Given the description of an element on the screen output the (x, y) to click on. 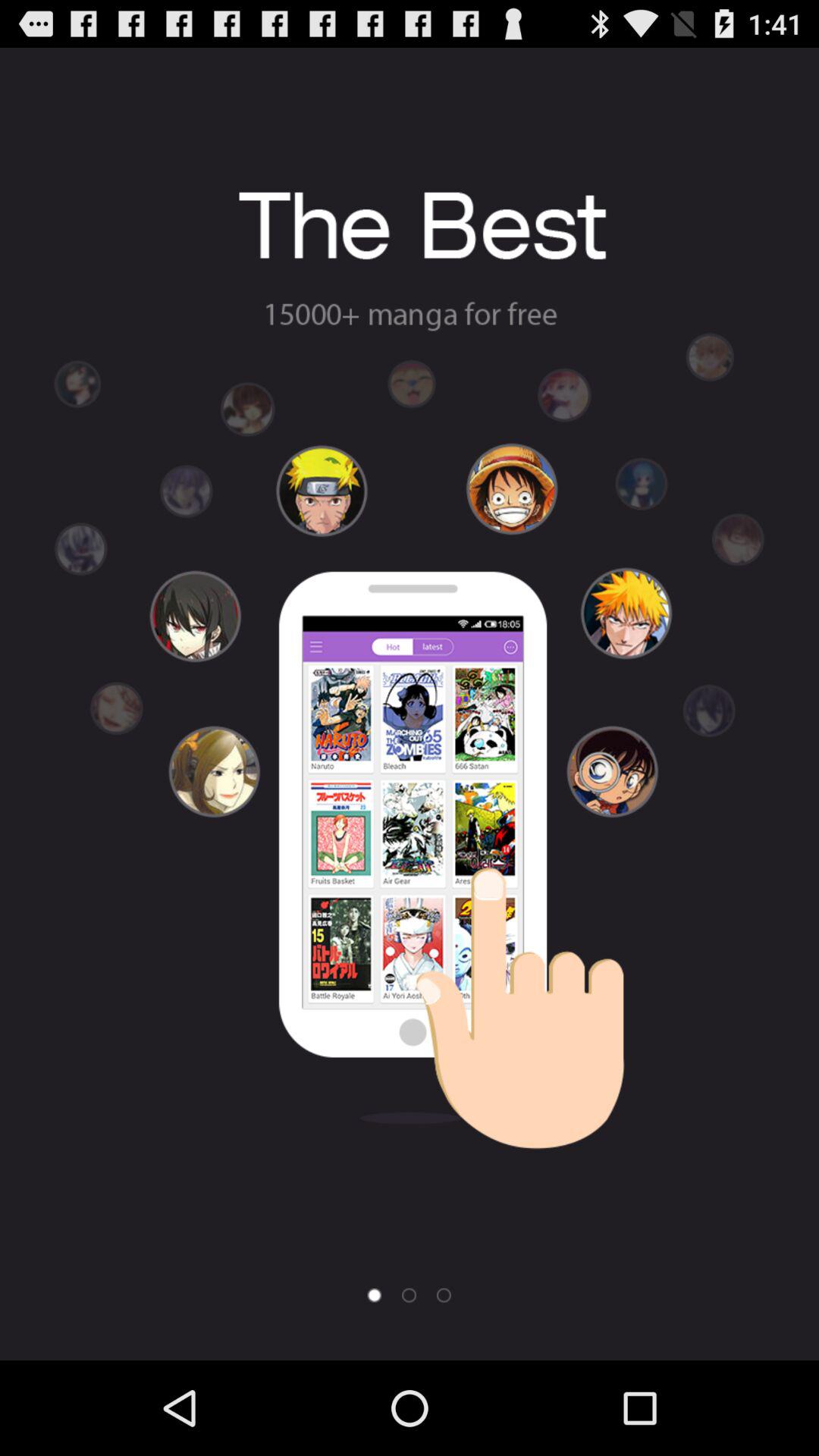
next screen (408, 1294)
